Given the description of an element on the screen output the (x, y) to click on. 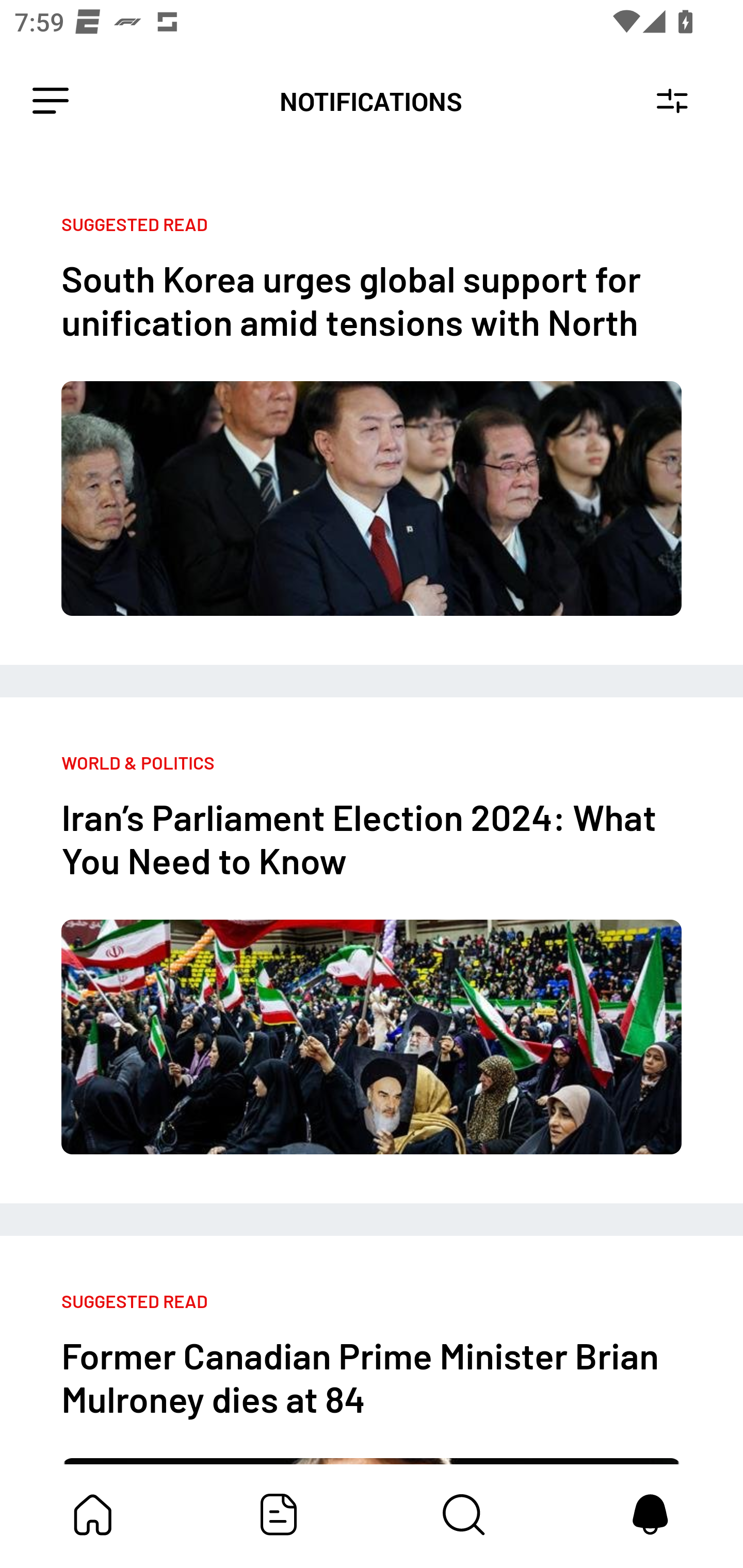
Leading Icon (50, 101)
Notification Settings (672, 101)
My Bundle (92, 1514)
Featured (278, 1514)
Content Store (464, 1514)
